Given the description of an element on the screen output the (x, y) to click on. 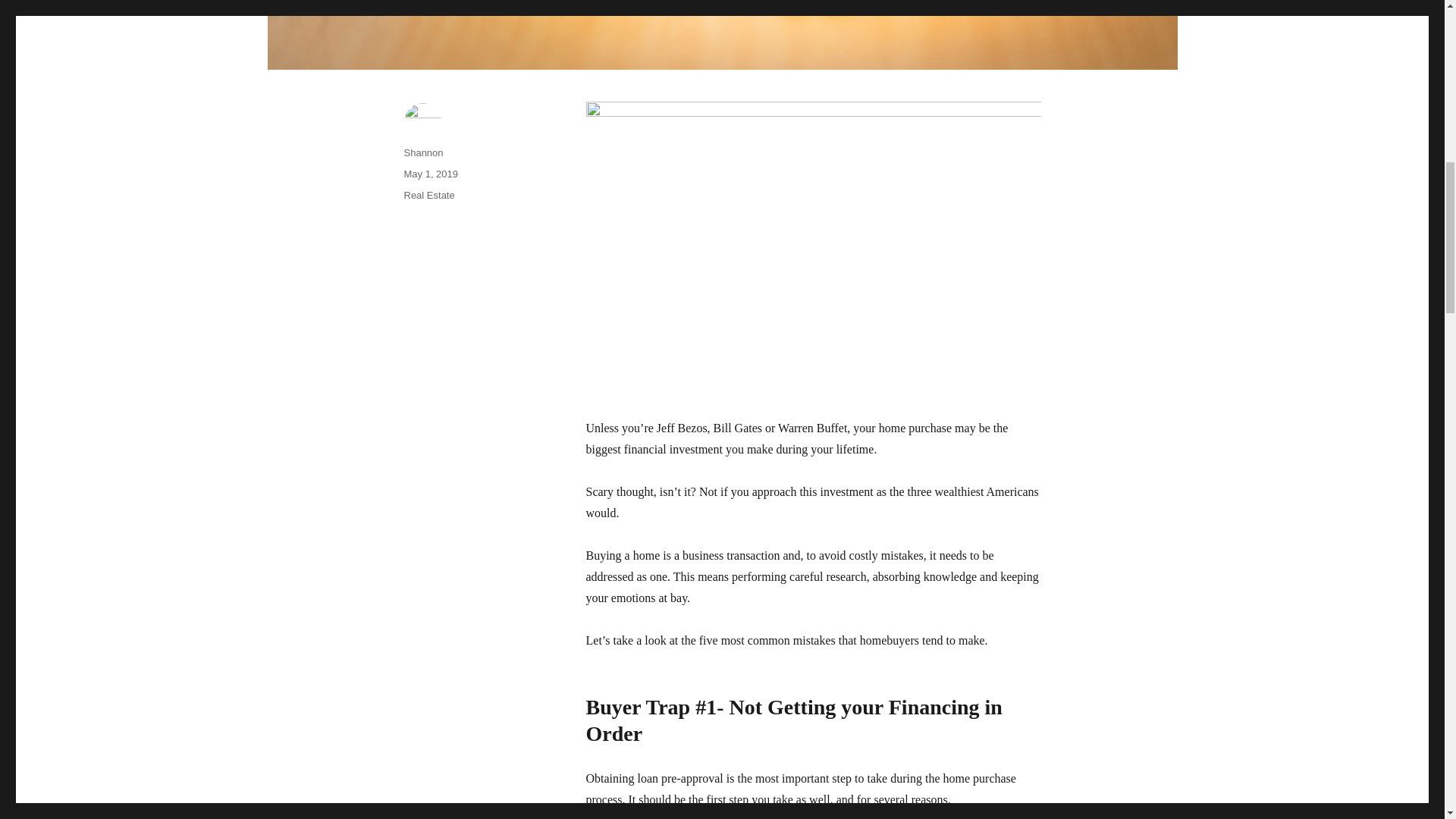
Shannon (422, 152)
May 1, 2019 (430, 173)
Real Estate (428, 194)
